Given the description of an element on the screen output the (x, y) to click on. 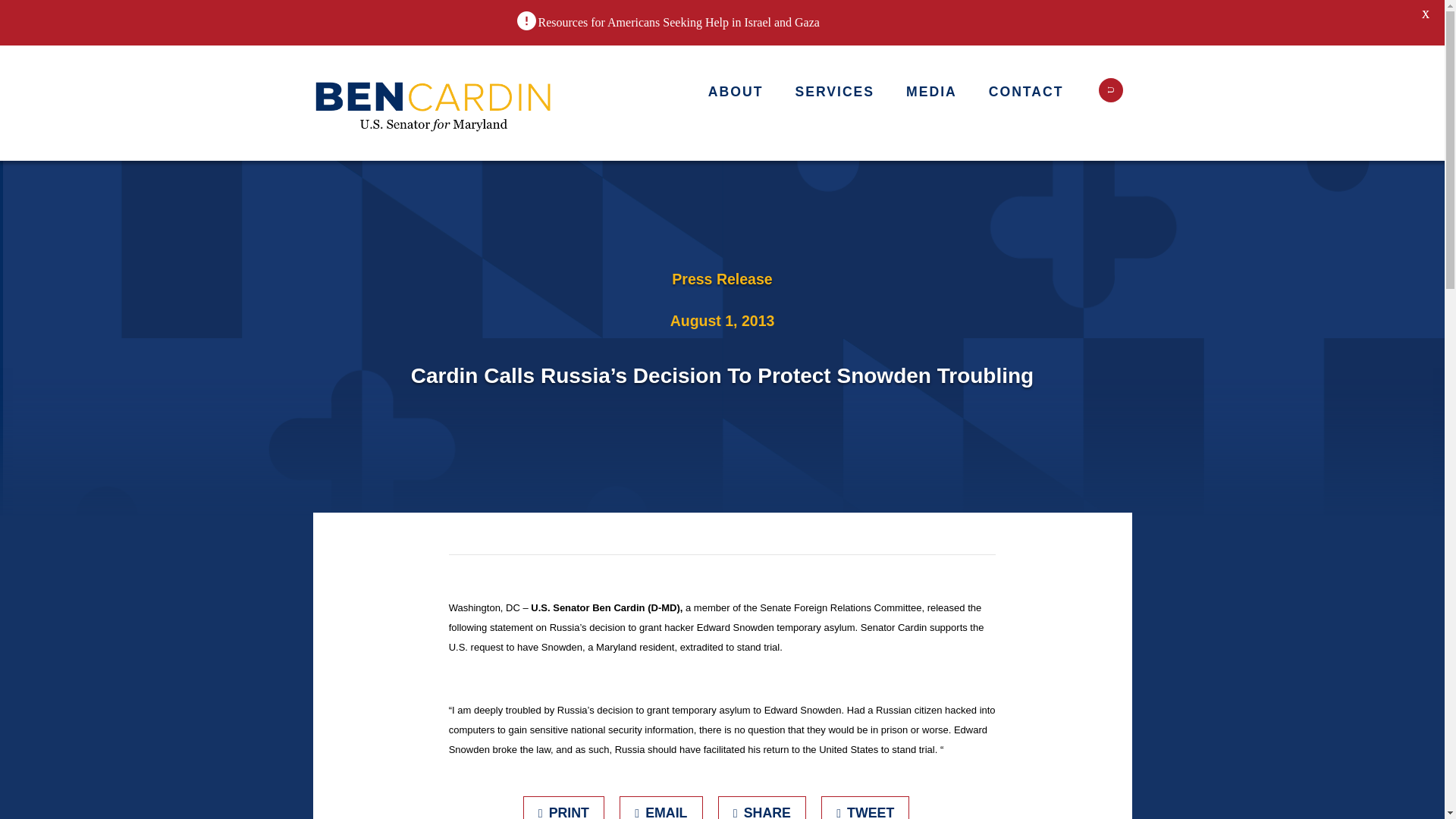
Email (661, 807)
Print (563, 807)
Share on Facebook (761, 807)
Tweet (865, 807)
Large-Inner (433, 102)
